Given the description of an element on the screen output the (x, y) to click on. 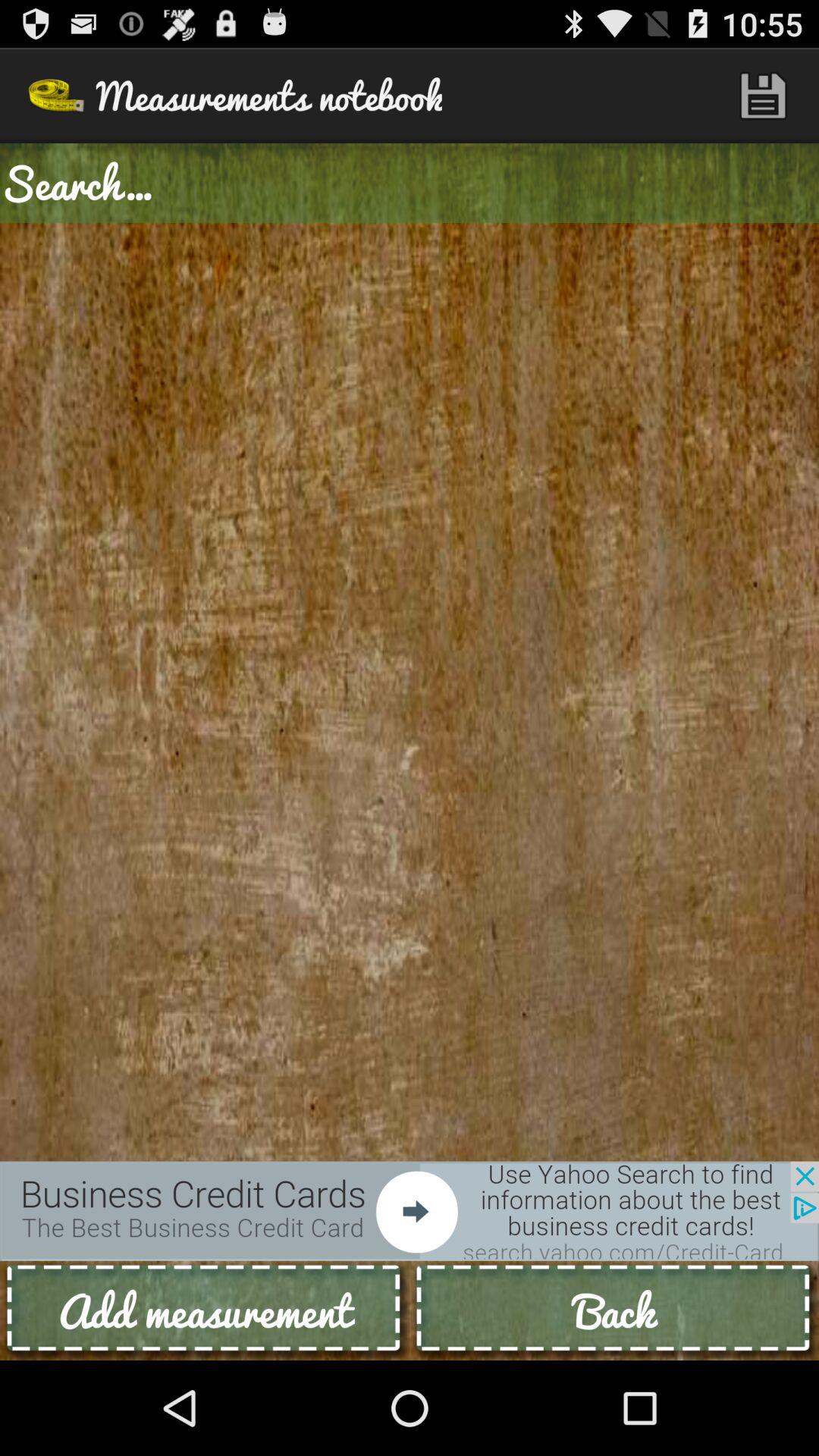
search (409, 182)
